Given the description of an element on the screen output the (x, y) to click on. 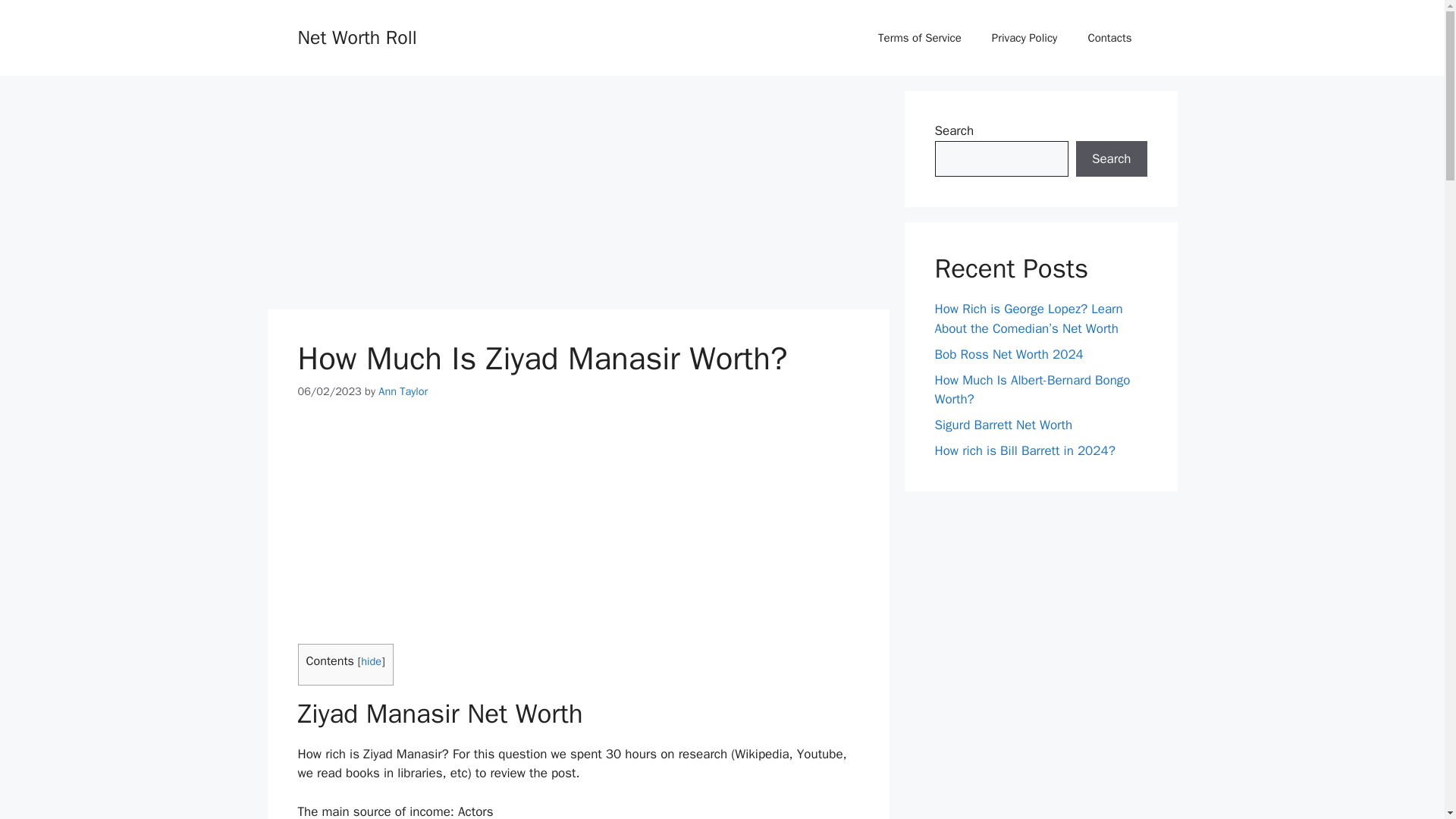
Terms of Service (919, 37)
Privacy Policy (1024, 37)
Advertisement (577, 196)
hide (371, 661)
Net Worth Roll (356, 37)
How Much Is Albert-Bernard Bongo Worth? (1031, 389)
Search (1111, 158)
View all posts by Ann Taylor (403, 391)
How rich is Bill Barrett in 2024? (1024, 450)
Ann Taylor (403, 391)
